Given the description of an element on the screen output the (x, y) to click on. 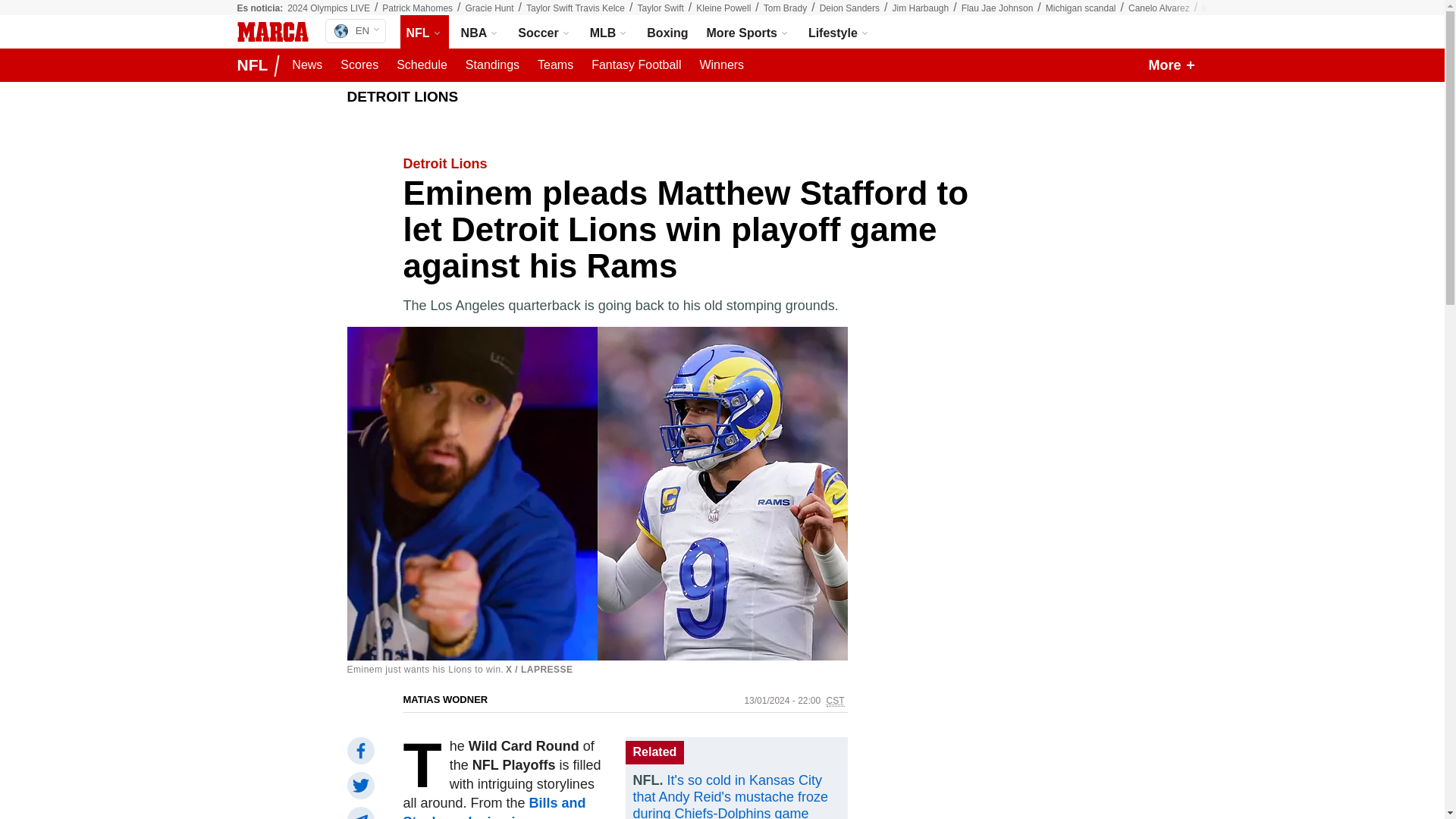
MLB (608, 31)
Portada de Marca (271, 31)
News (307, 64)
Schedule (421, 64)
Lifestyle (839, 31)
Taylor Swift Travis Kelce (574, 8)
Lifestyle (839, 31)
Schedule (421, 64)
Winners (721, 64)
Central Standard Time (835, 700)
